Given the description of an element on the screen output the (x, y) to click on. 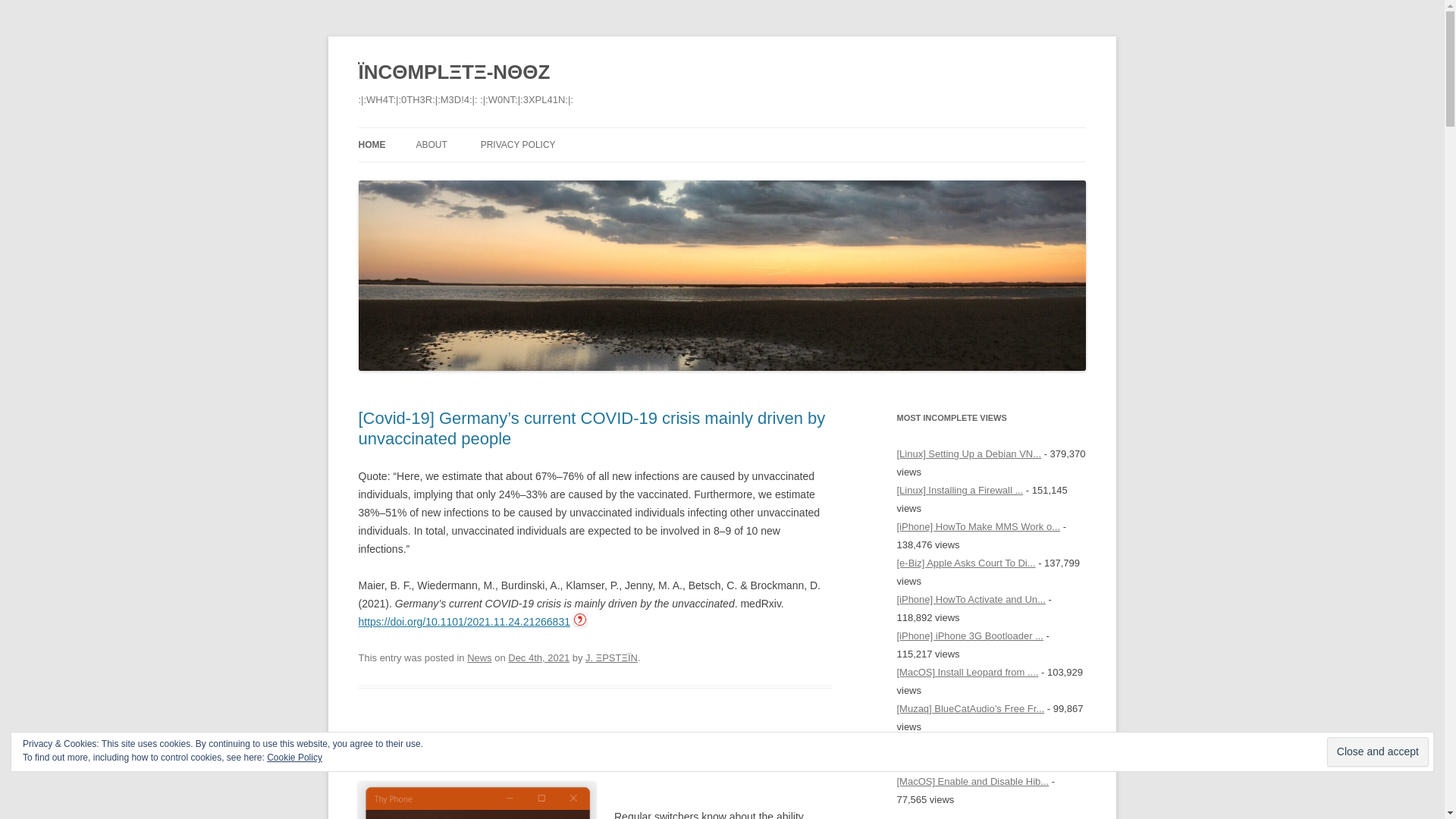
ABOUT (430, 144)
News (479, 657)
Close and accept (1377, 751)
Dec 4th, 2021 (538, 657)
15:47 (538, 657)
PRIVACY POLICY (518, 144)
ABOUT THE PHOTOS (490, 176)
